Given the description of an element on the screen output the (x, y) to click on. 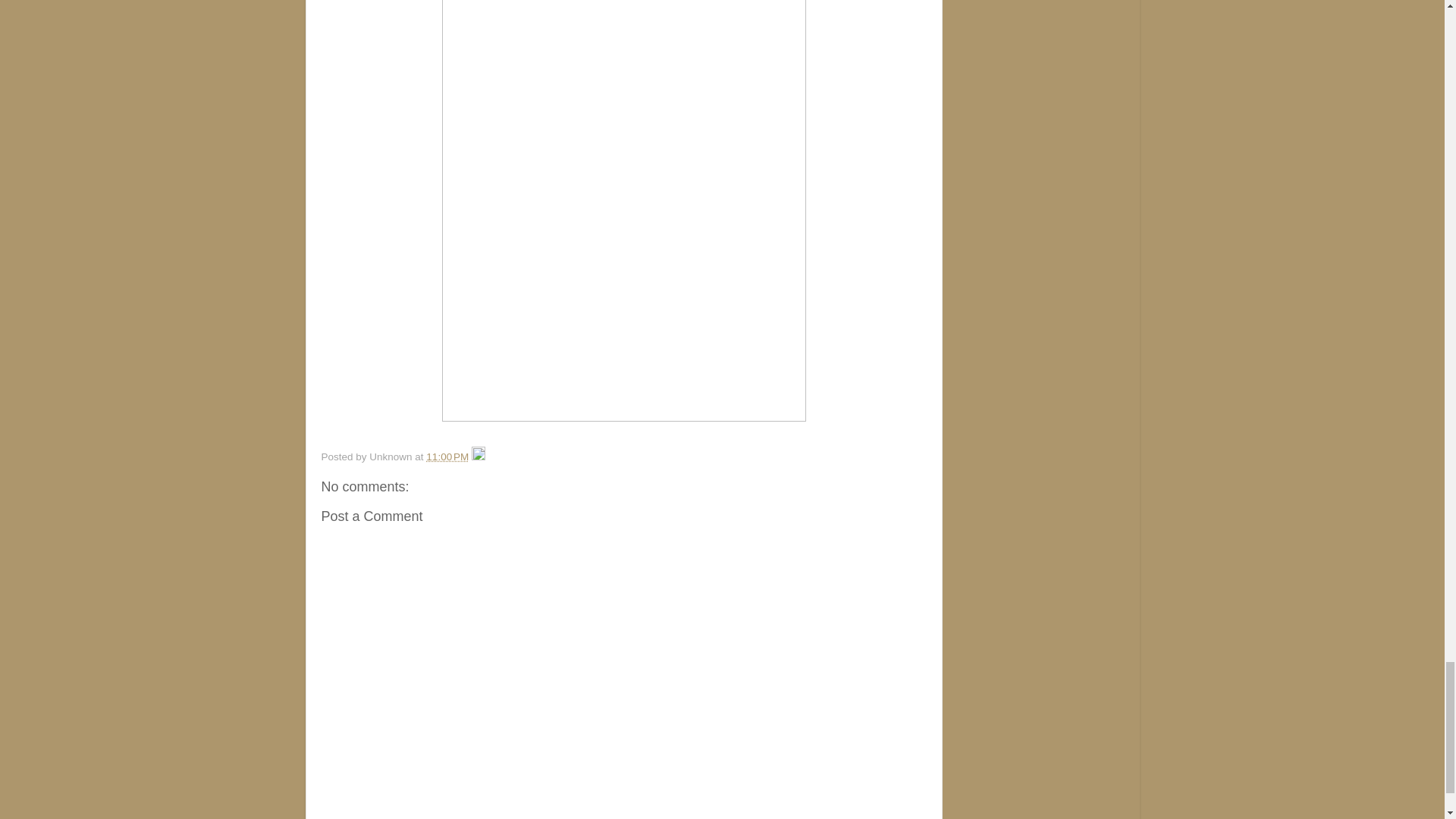
permanent link (447, 456)
Edit Post (477, 456)
